Given the description of an element on the screen output the (x, y) to click on. 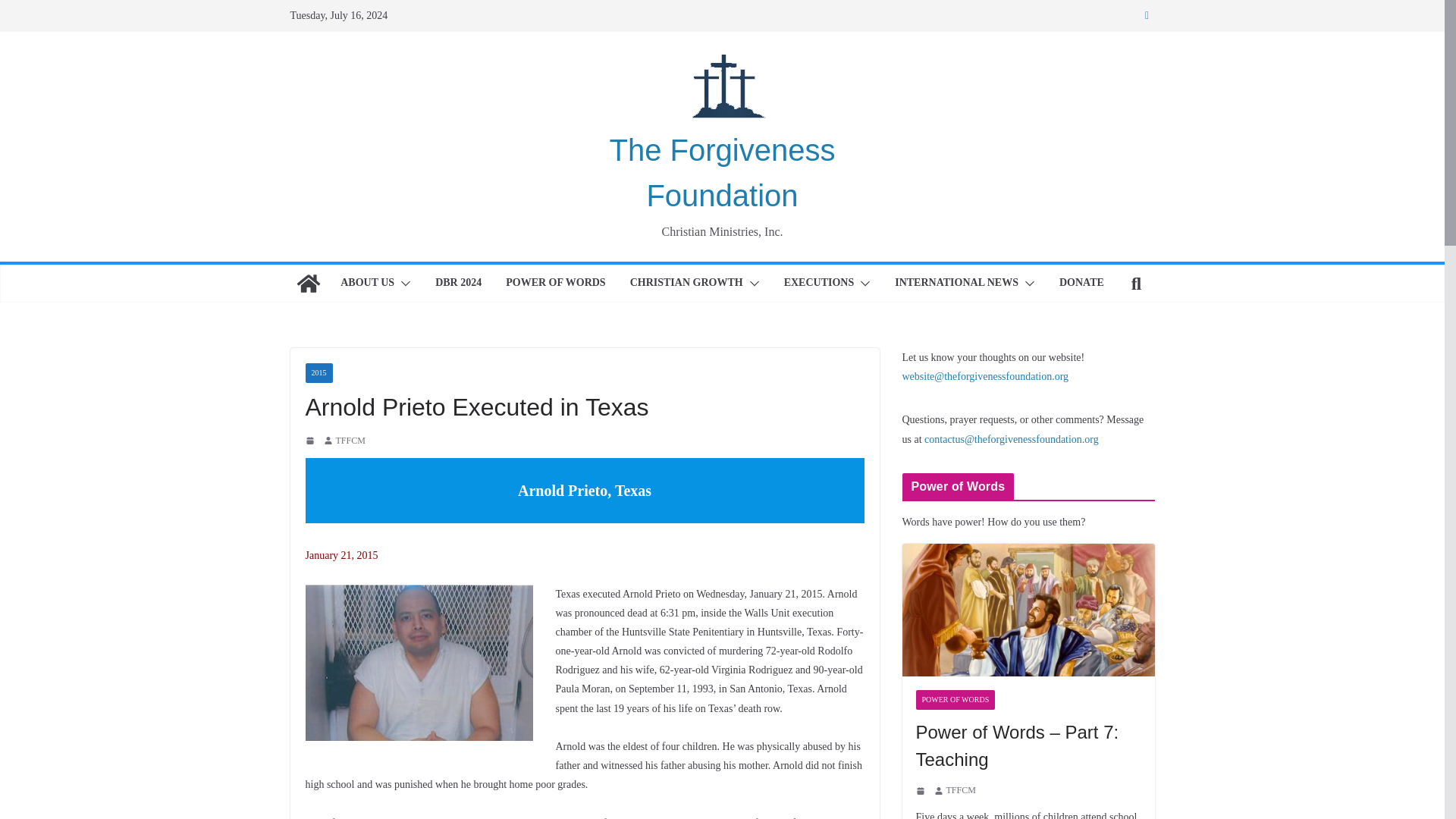
CHRISTIAN GROWTH (686, 282)
ABOUT US (367, 282)
Download This Theme (367, 282)
The Forgiveness Foundation (722, 172)
EXECUTIONS (819, 282)
The Forgiveness Foundation (307, 283)
TFFCM (349, 441)
The Forgiveness Foundation (722, 172)
8:56 pm (310, 440)
POWER OF WORDS (555, 282)
DBR 2024 (458, 282)
INTERNATIONAL NEWS (956, 282)
